Given the description of an element on the screen output the (x, y) to click on. 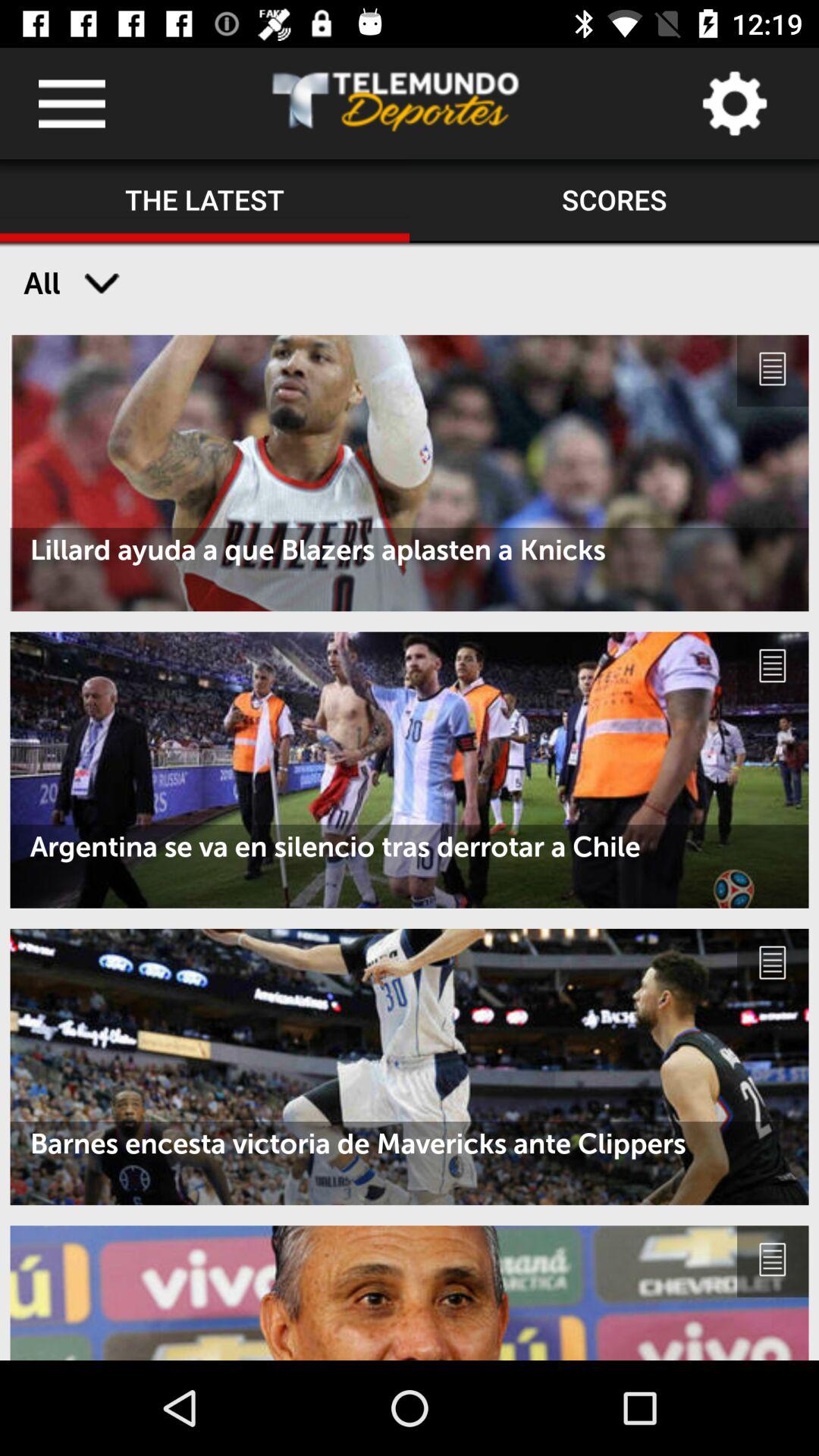
open settings (734, 103)
